Given the description of an element on the screen output the (x, y) to click on. 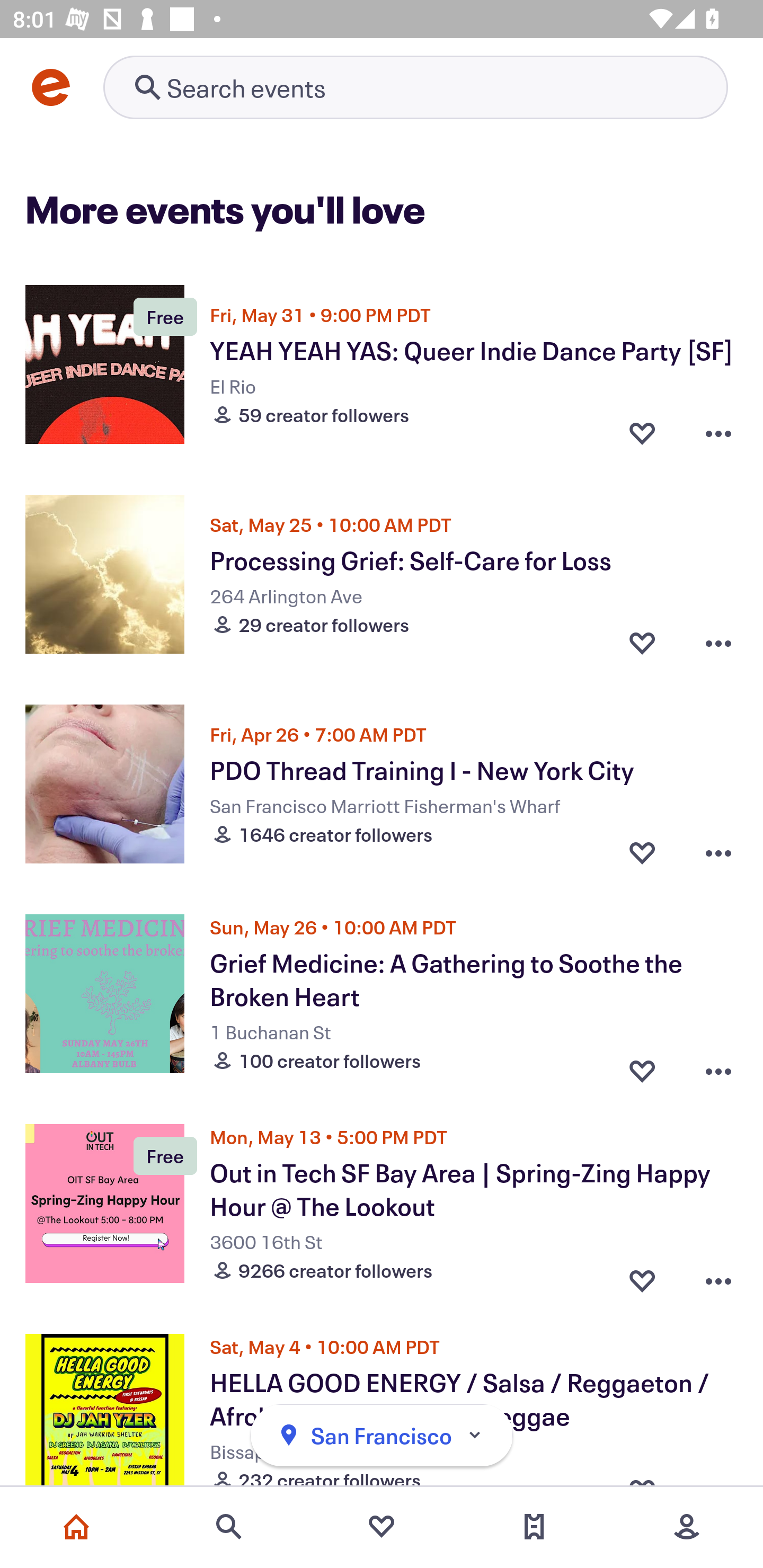
Retry's image Search events (415, 86)
Favorite button (642, 431)
Overflow menu button (718, 431)
Favorite button (642, 641)
Overflow menu button (718, 641)
Favorite button (642, 852)
Overflow menu button (718, 852)
Favorite button (642, 1066)
Overflow menu button (718, 1066)
Favorite button (642, 1275)
Overflow menu button (718, 1275)
San Francisco (381, 1435)
Home (76, 1526)
Search events (228, 1526)
Favorites (381, 1526)
Tickets (533, 1526)
More (686, 1526)
